Given the description of an element on the screen output the (x, y) to click on. 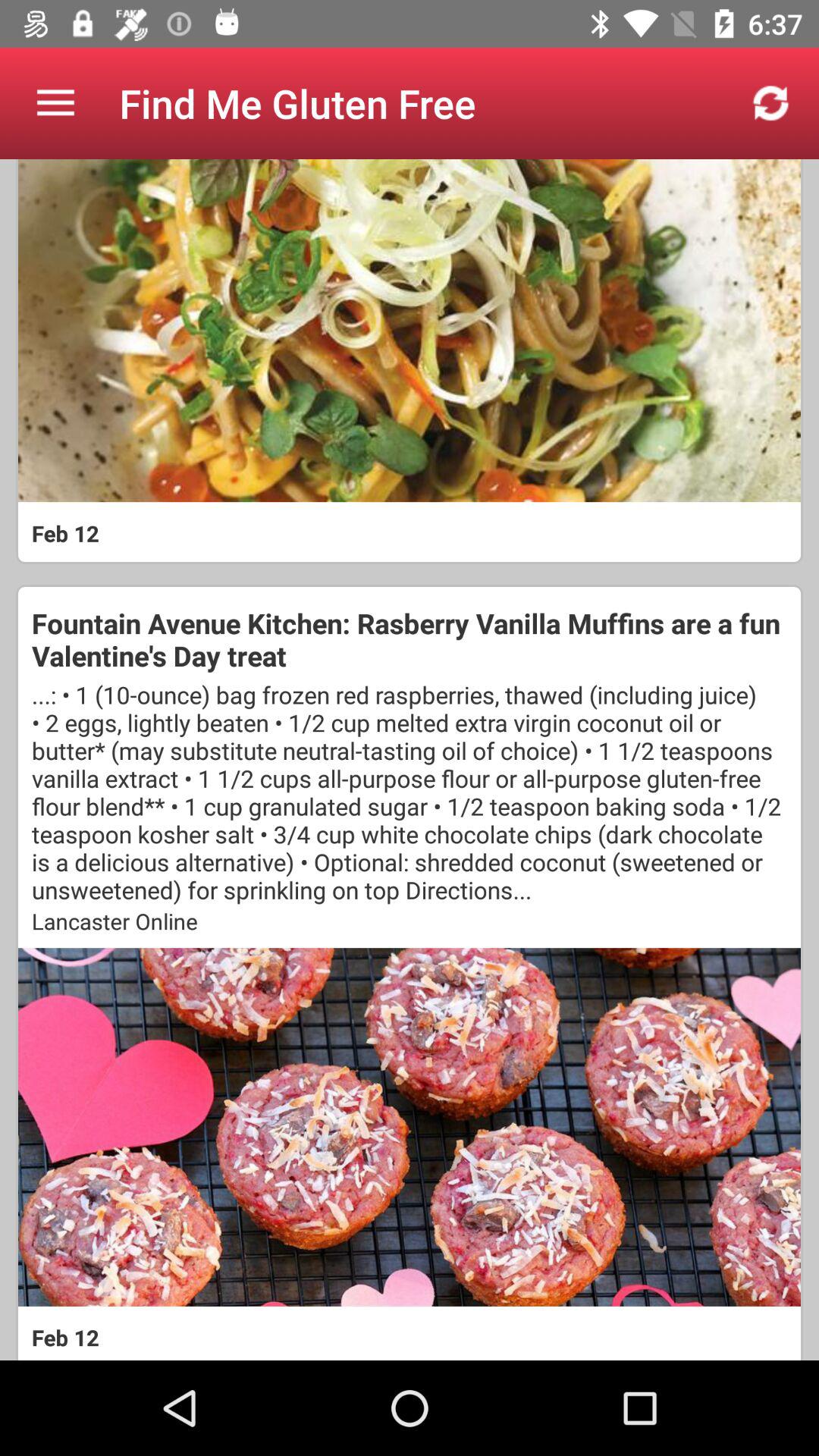
turn on the item above 1 10 ounce icon (409, 639)
